Given the description of an element on the screen output the (x, y) to click on. 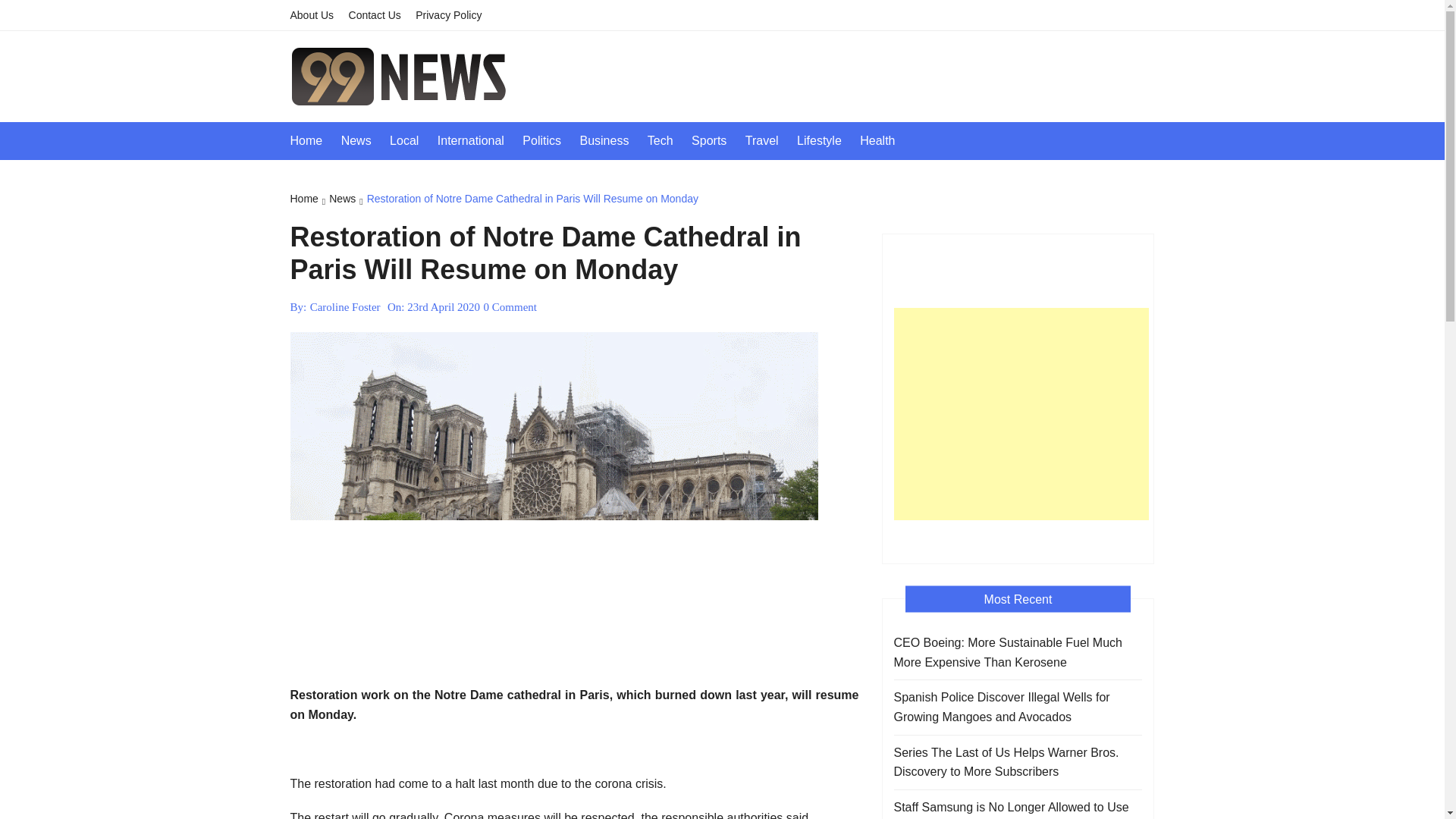
0 Comment (510, 307)
Contact Us (380, 15)
Caroline Foster (345, 307)
Local (411, 140)
News (363, 140)
Business (611, 140)
Travel (769, 140)
About Us (317, 15)
Tech (667, 140)
